Given the description of an element on the screen output the (x, y) to click on. 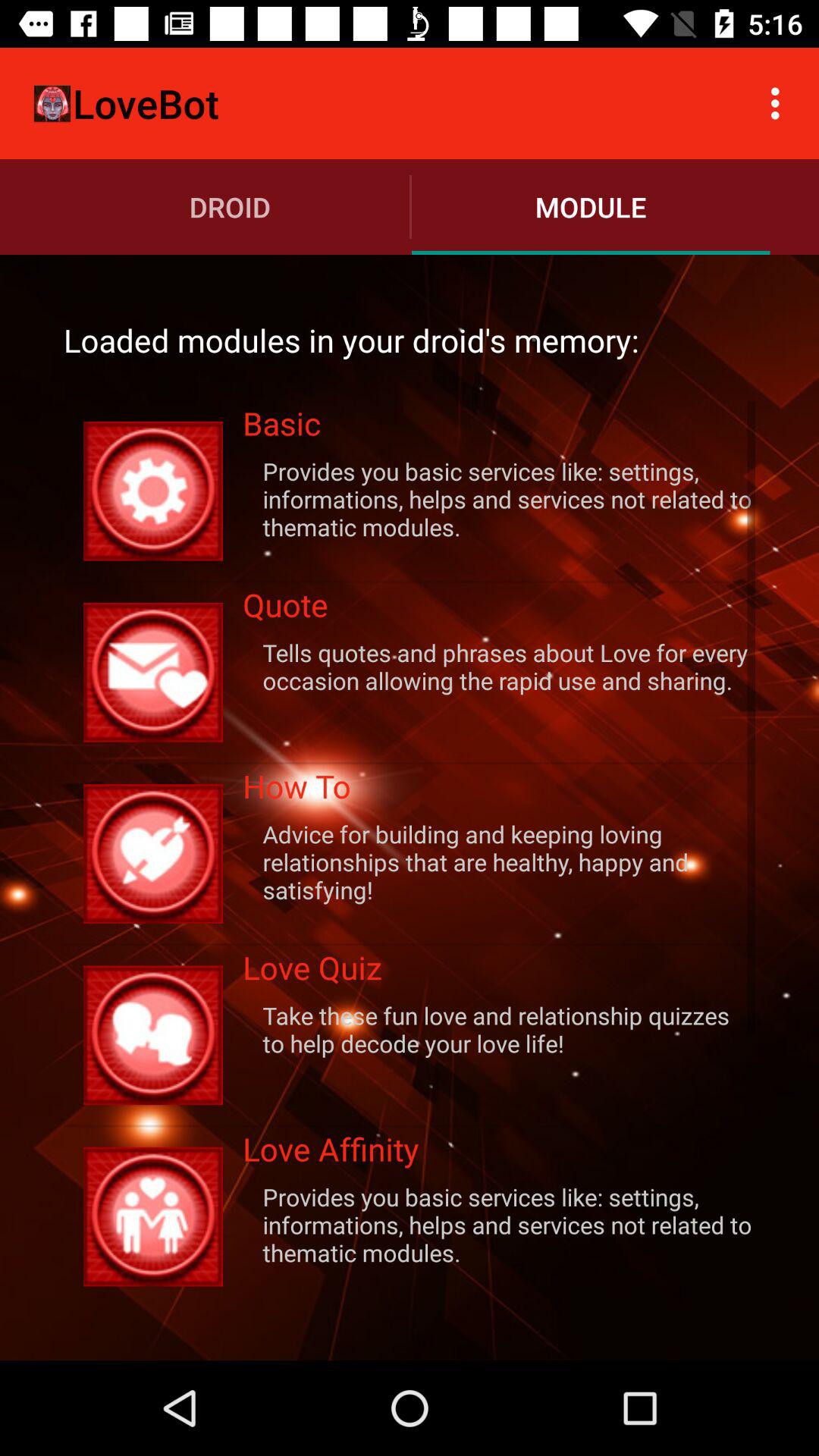
press advice for building (498, 861)
